Given the description of an element on the screen output the (x, y) to click on. 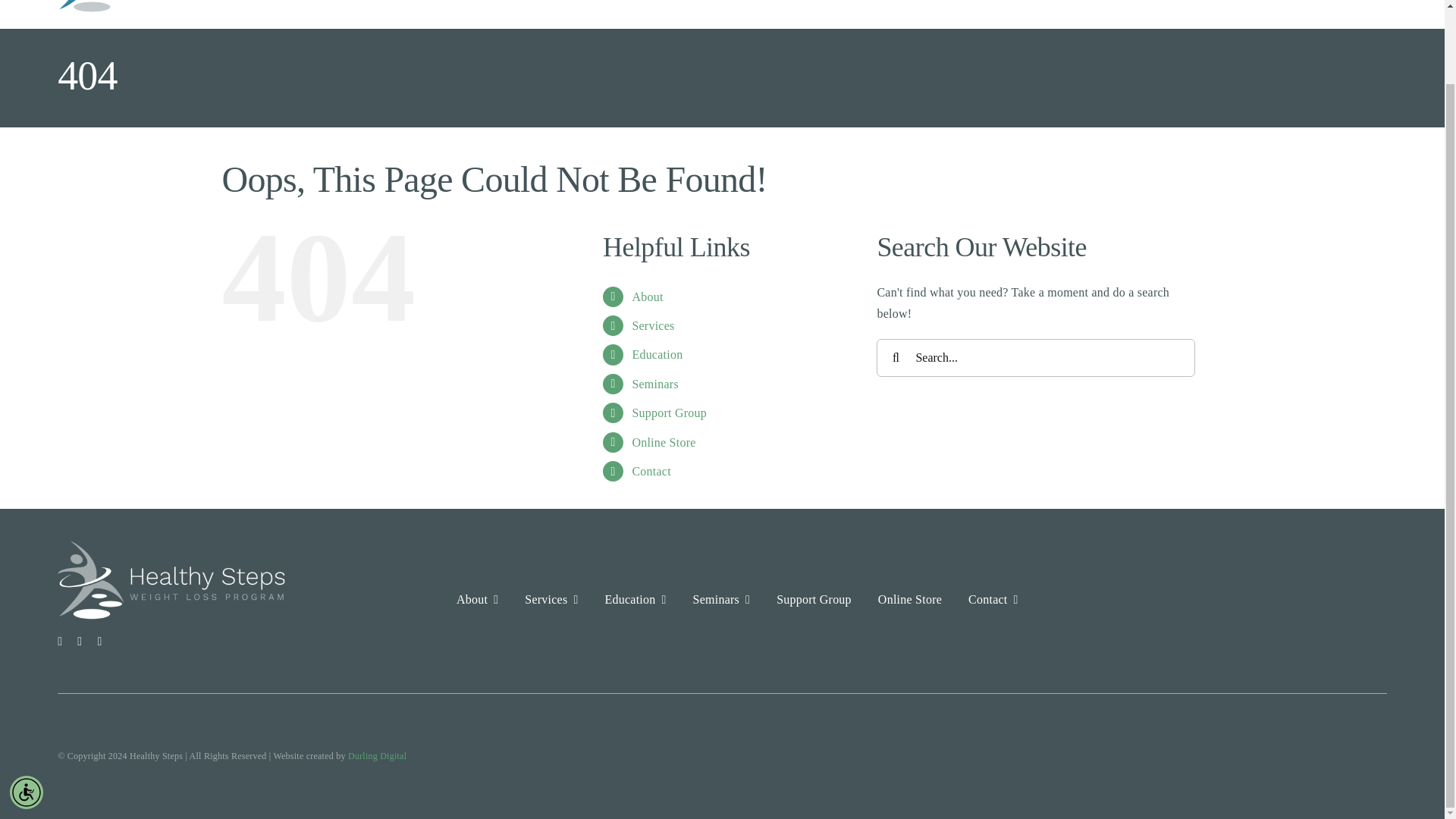
Seminars (654, 383)
About (646, 296)
Education (656, 354)
Contact (650, 471)
Services (652, 325)
Accessibility Menu (26, 709)
Support Group (668, 412)
Online Store (663, 441)
